Given the description of an element on the screen output the (x, y) to click on. 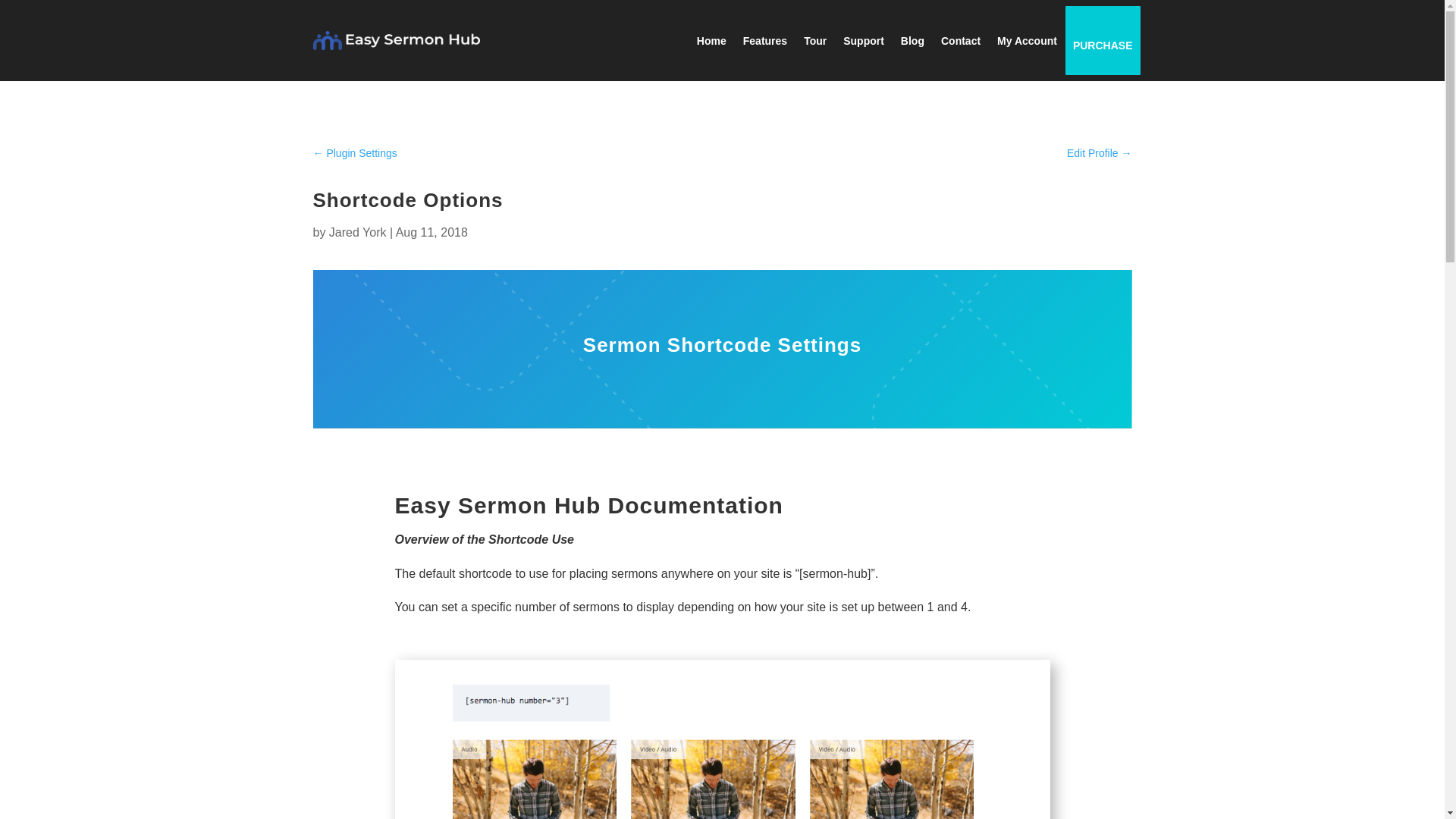
PURCHASE (1102, 45)
Jared York (358, 232)
Posts by Jared York (358, 232)
